Given the description of an element on the screen output the (x, y) to click on. 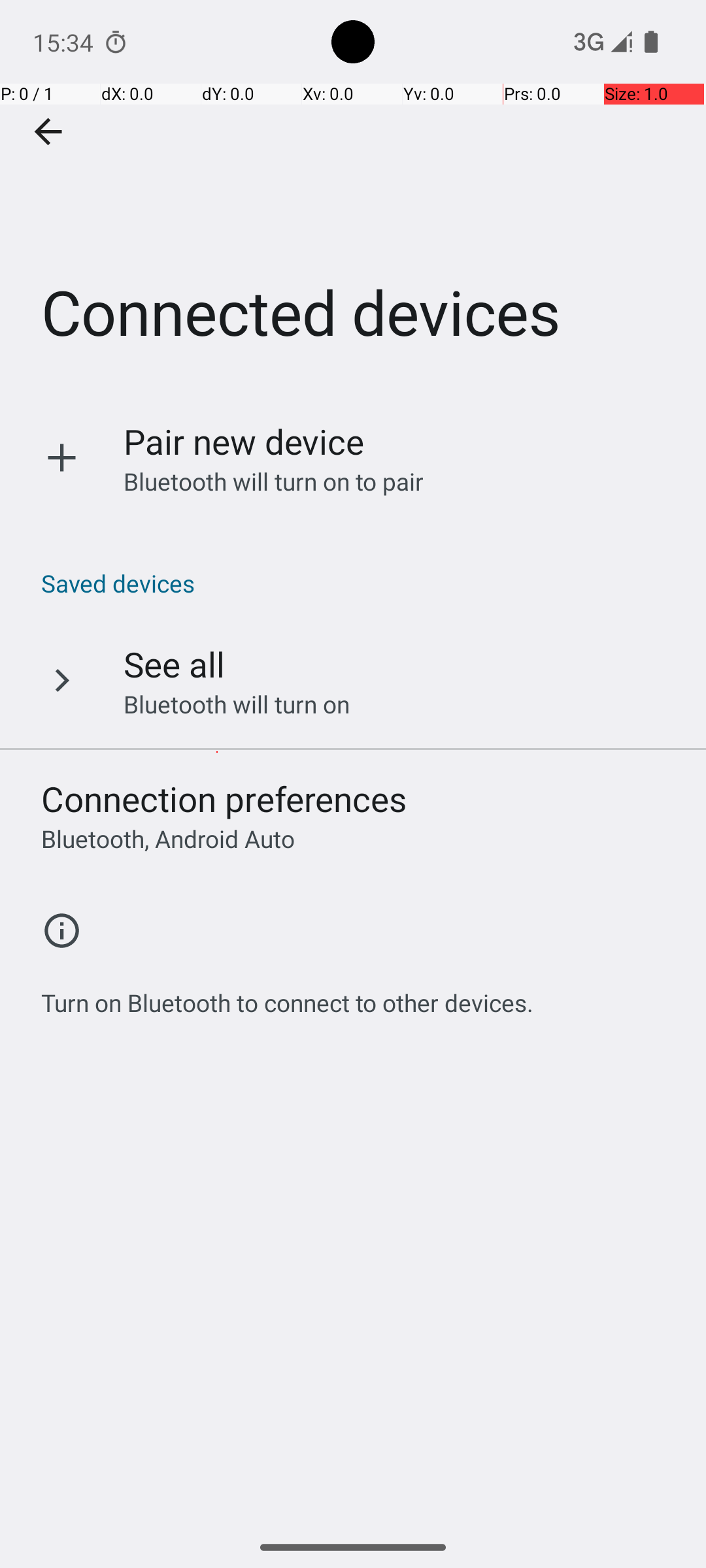
Bluetooth will turn on to pair Element type: android.widget.TextView (273, 480)
Bluetooth will turn on Element type: android.widget.TextView (236, 703)
Turn on Bluetooth to connect to other devices. Element type: android.widget.TextView (287, 995)
